Given the description of an element on the screen output the (x, y) to click on. 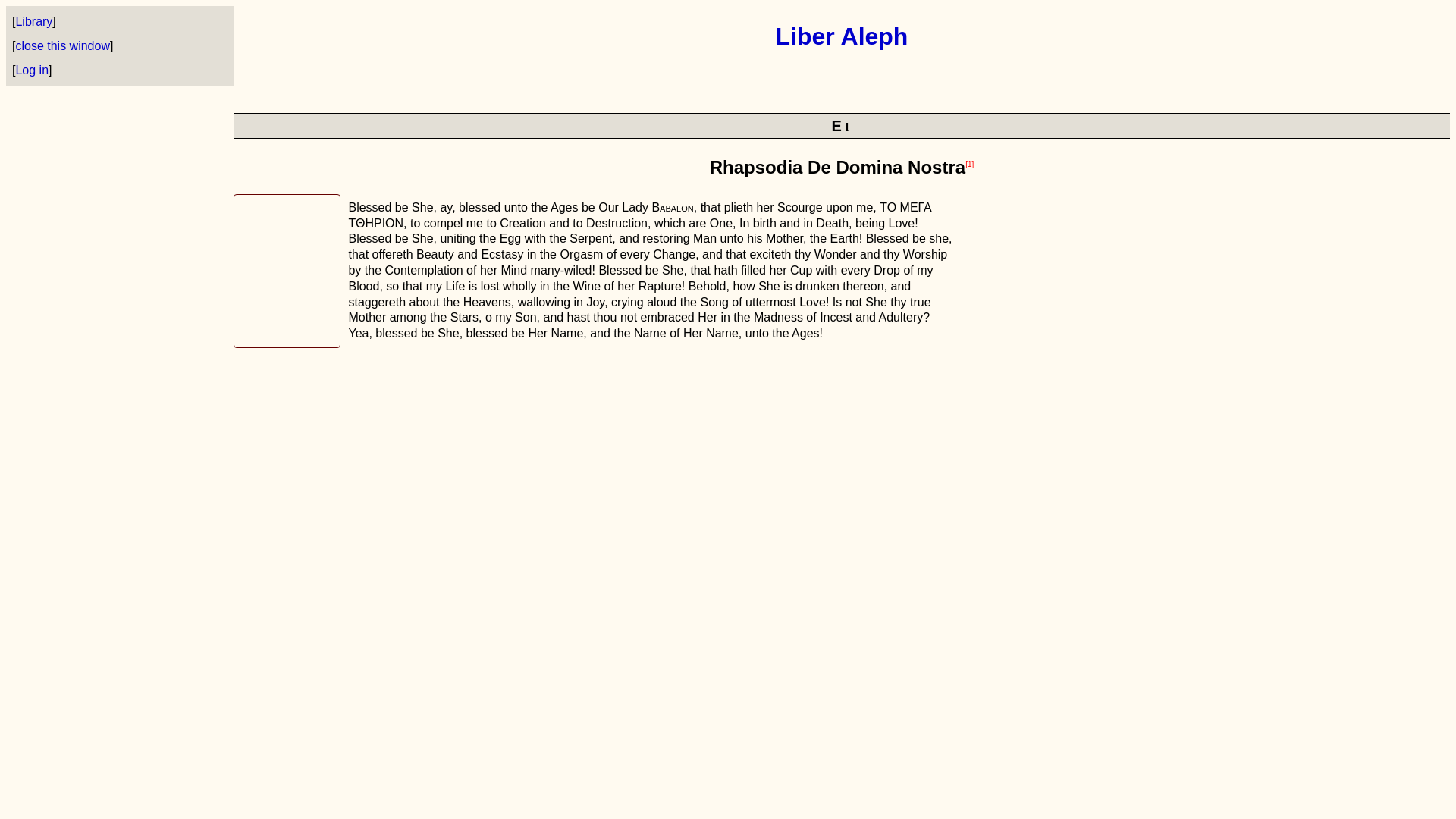
Log in (31, 69)
Library (33, 21)
Liber Aleph (842, 35)
close this window (62, 45)
